Given the description of an element on the screen output the (x, y) to click on. 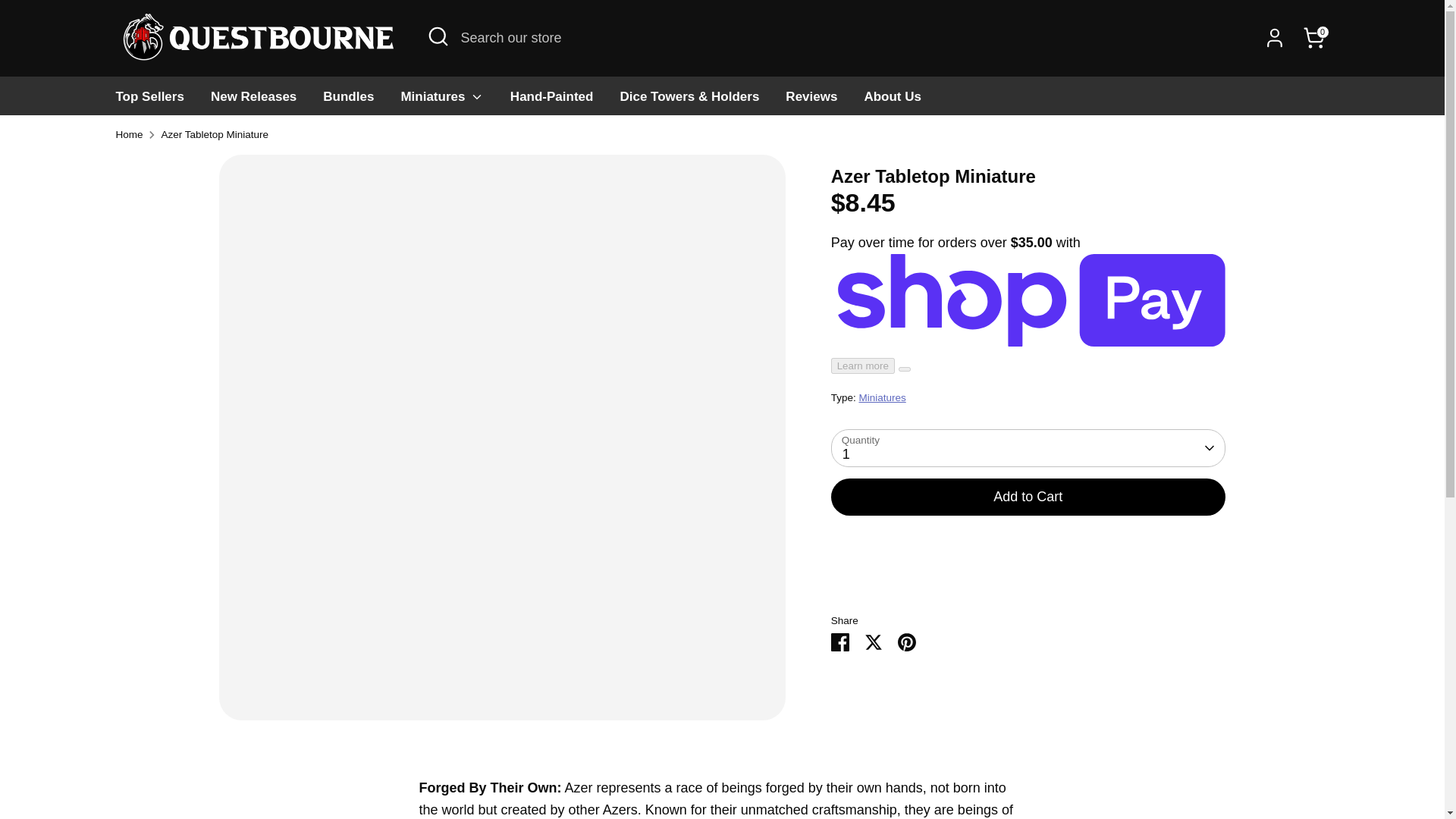
Hand-Painted (552, 100)
Top Sellers (149, 100)
American Express (1008, 767)
New Releases (253, 100)
About Us (892, 100)
Bundles (348, 100)
Apple Pay (1039, 767)
0 (1312, 37)
Google Pay (1160, 767)
Diners Club (1069, 767)
